Given the description of an element on the screen output the (x, y) to click on. 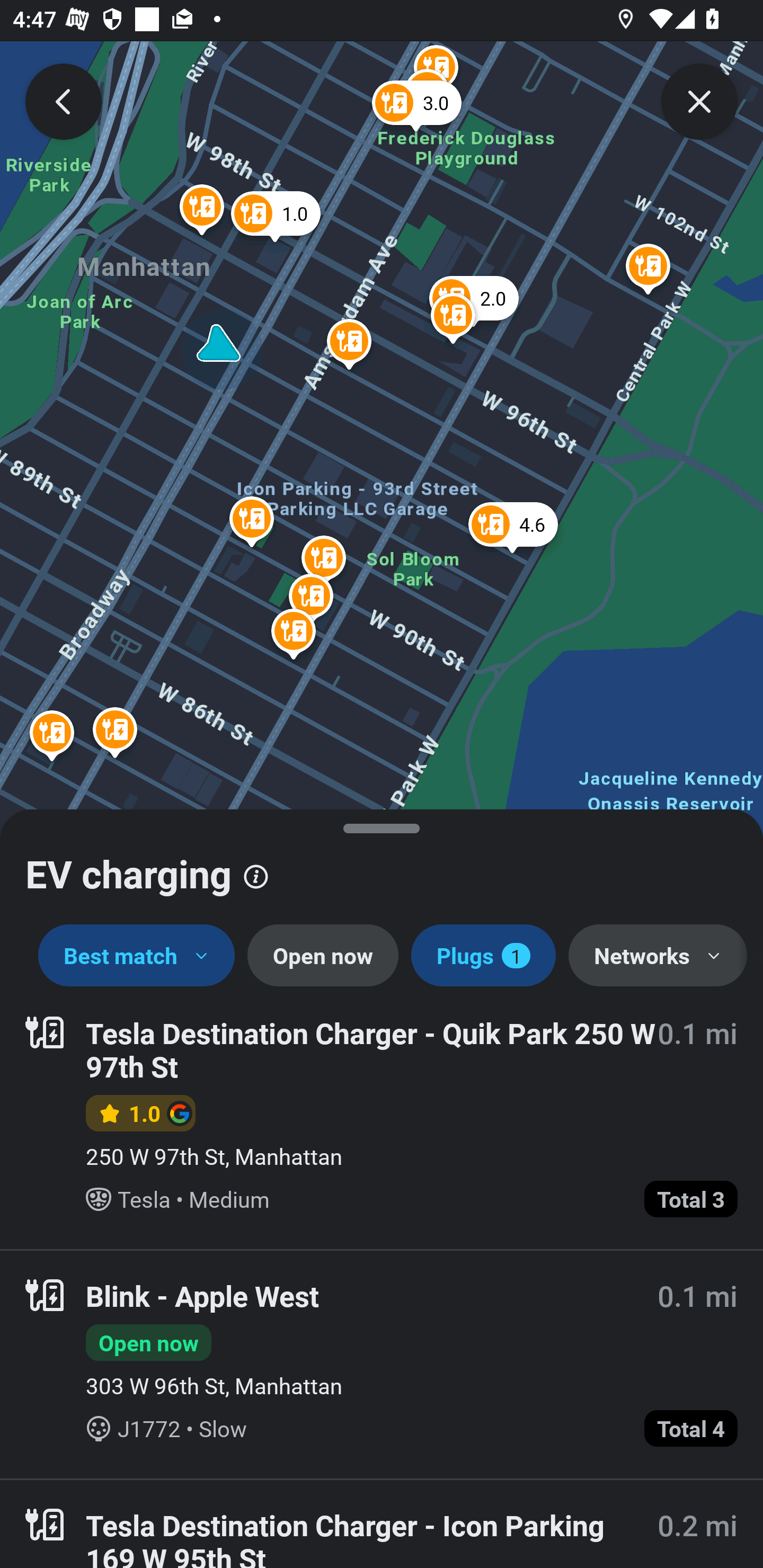
EV charging (381, 867)
Best match (136, 955)
Open now (322, 955)
Plugs 1 (483, 955)
Networks (657, 955)
